Given the description of an element on the screen output the (x, y) to click on. 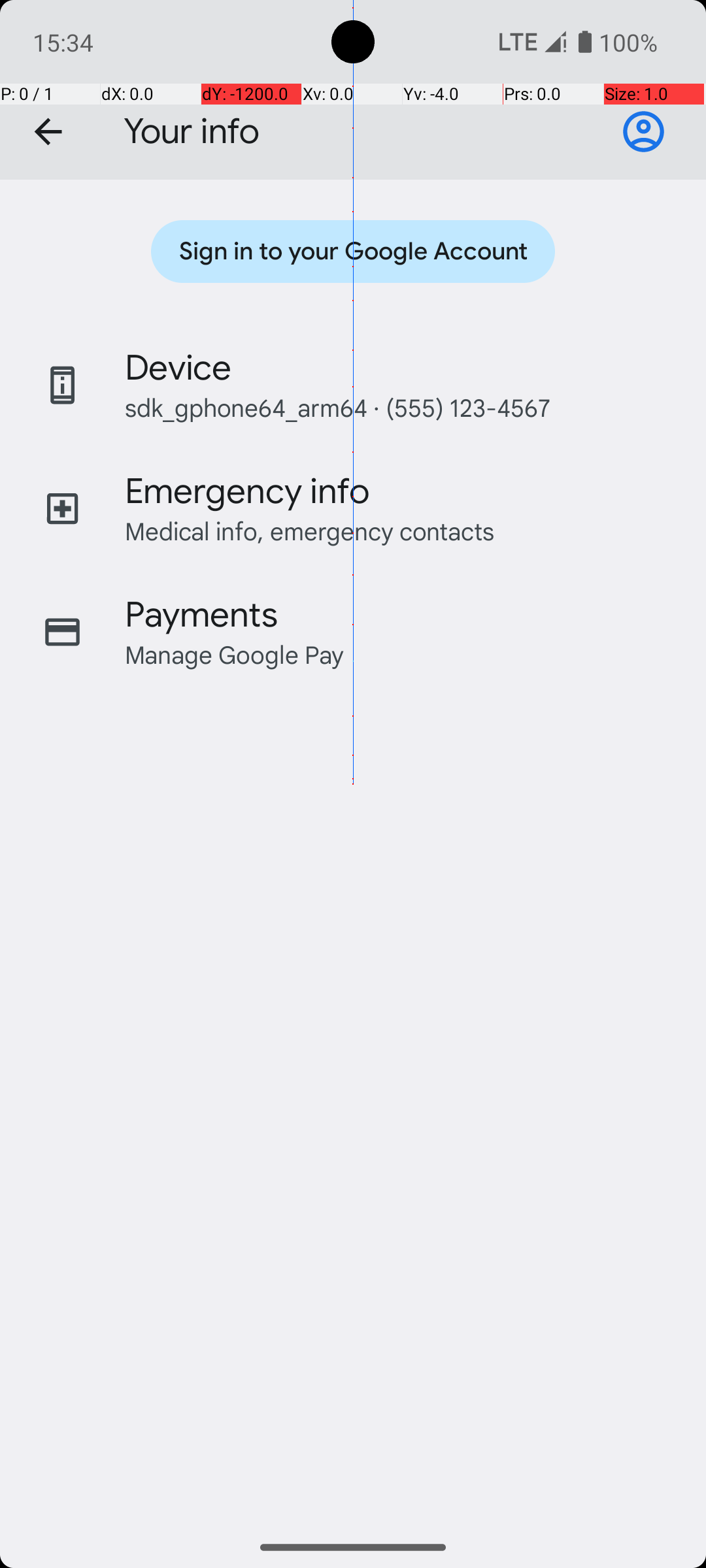
Sign in to your Google Account Element type: android.widget.FrameLayout (643, 131)
sdk_gphone64_arm64 · (555) 123-4567 Element type: android.widget.TextView (337, 407)
Emergency info Element type: android.widget.TextView (246, 491)
Medical info, emergency contacts Element type: android.widget.TextView (309, 530)
Payments Element type: android.widget.TextView (200, 614)
Manage Google Pay Element type: android.widget.TextView (234, 654)
